Given the description of an element on the screen output the (x, y) to click on. 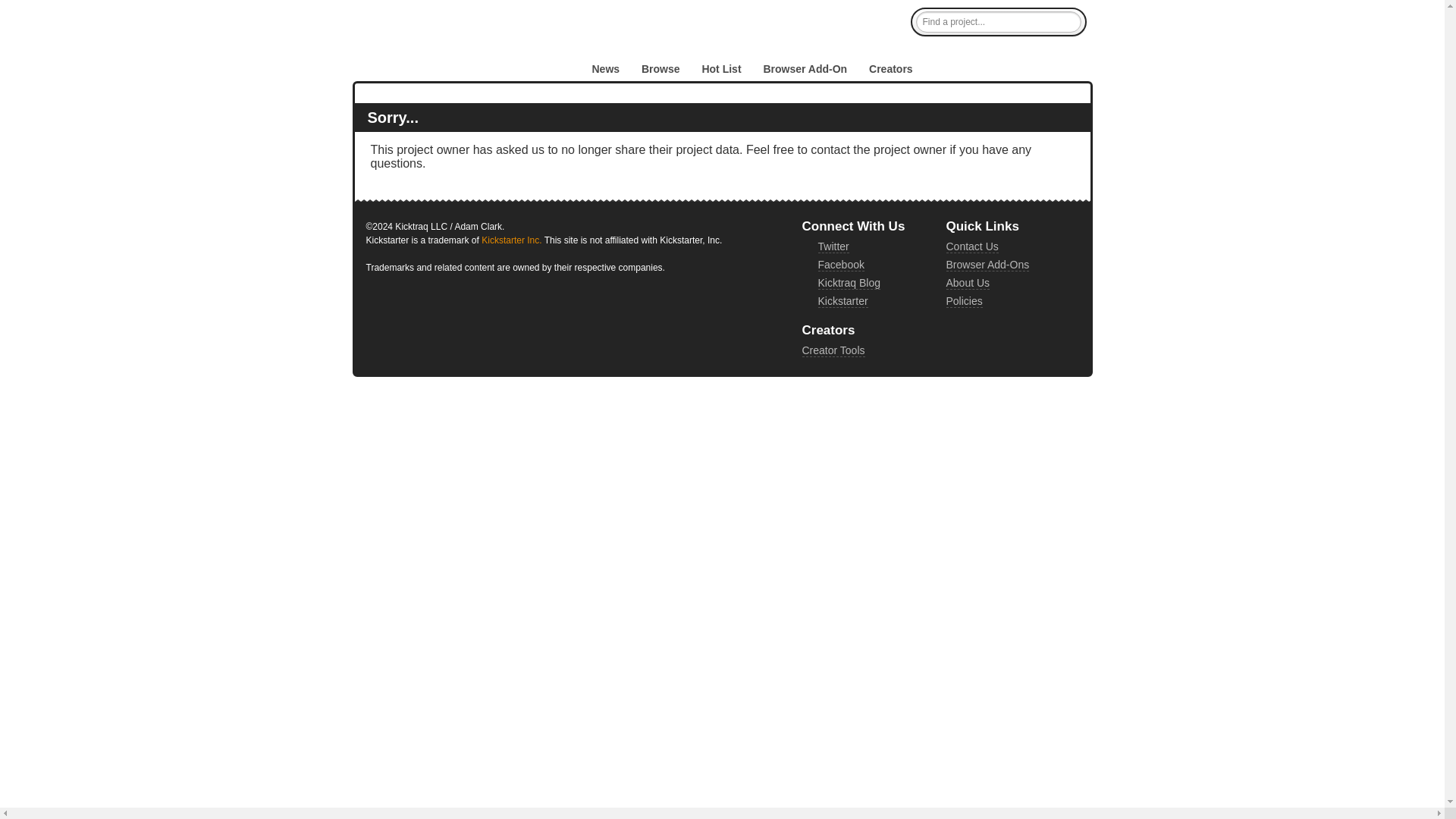
Hot List (721, 69)
KickTraq (463, 52)
Creator Tools (833, 350)
Contact Us (972, 246)
Creators (890, 69)
Browse (660, 69)
Twitter (832, 246)
Browser Add-On (804, 69)
Find a project... (998, 21)
About Us (968, 282)
